Given the description of an element on the screen output the (x, y) to click on. 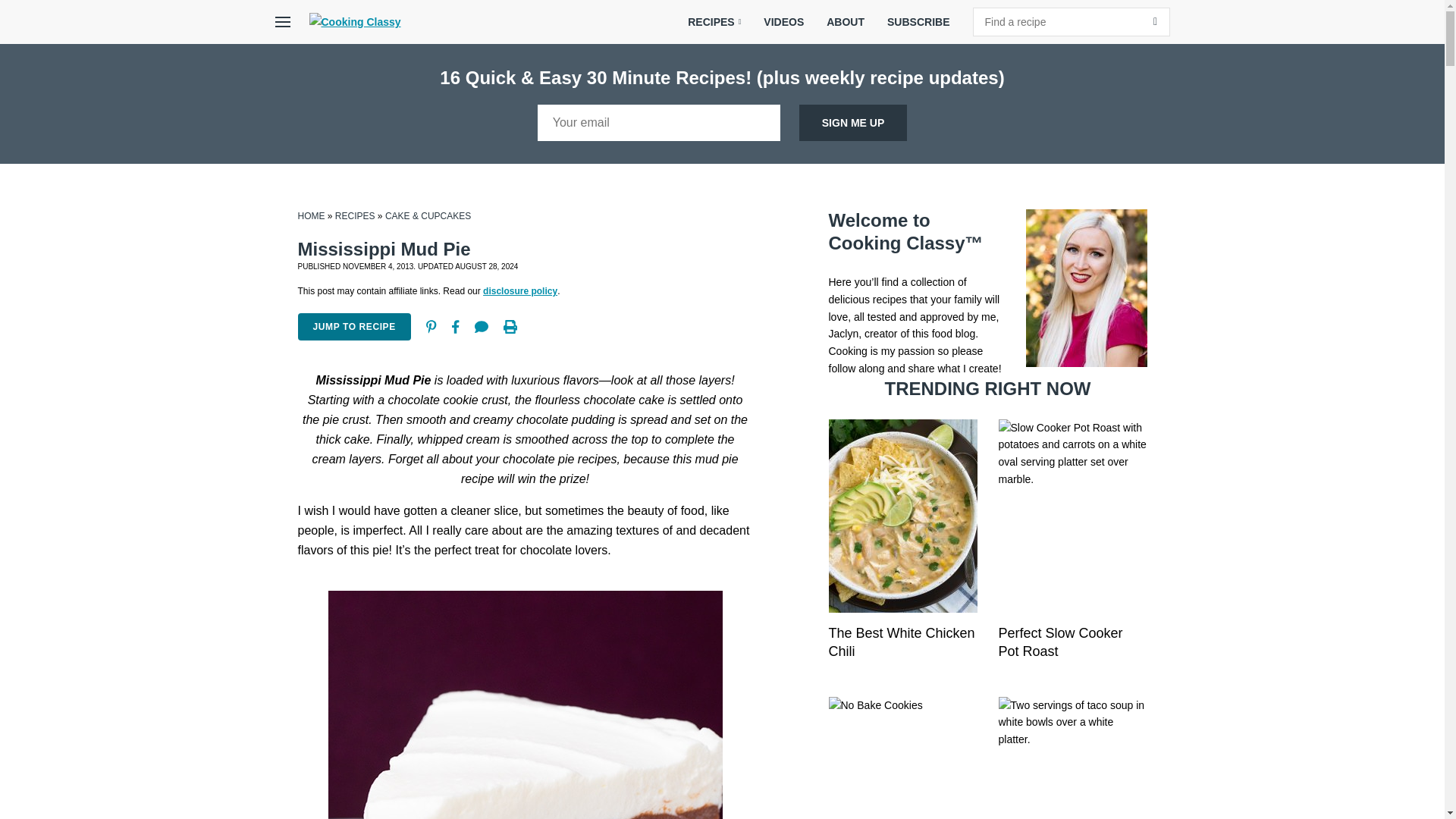
Pin (431, 326)
RECIPES (714, 22)
VIDEOS (783, 22)
Comments (481, 326)
Print (510, 326)
ABOUT (845, 22)
Submit (1155, 22)
Sign Me Up (853, 122)
SUBSCRIBE (918, 22)
Share (455, 326)
